Given the description of an element on the screen output the (x, y) to click on. 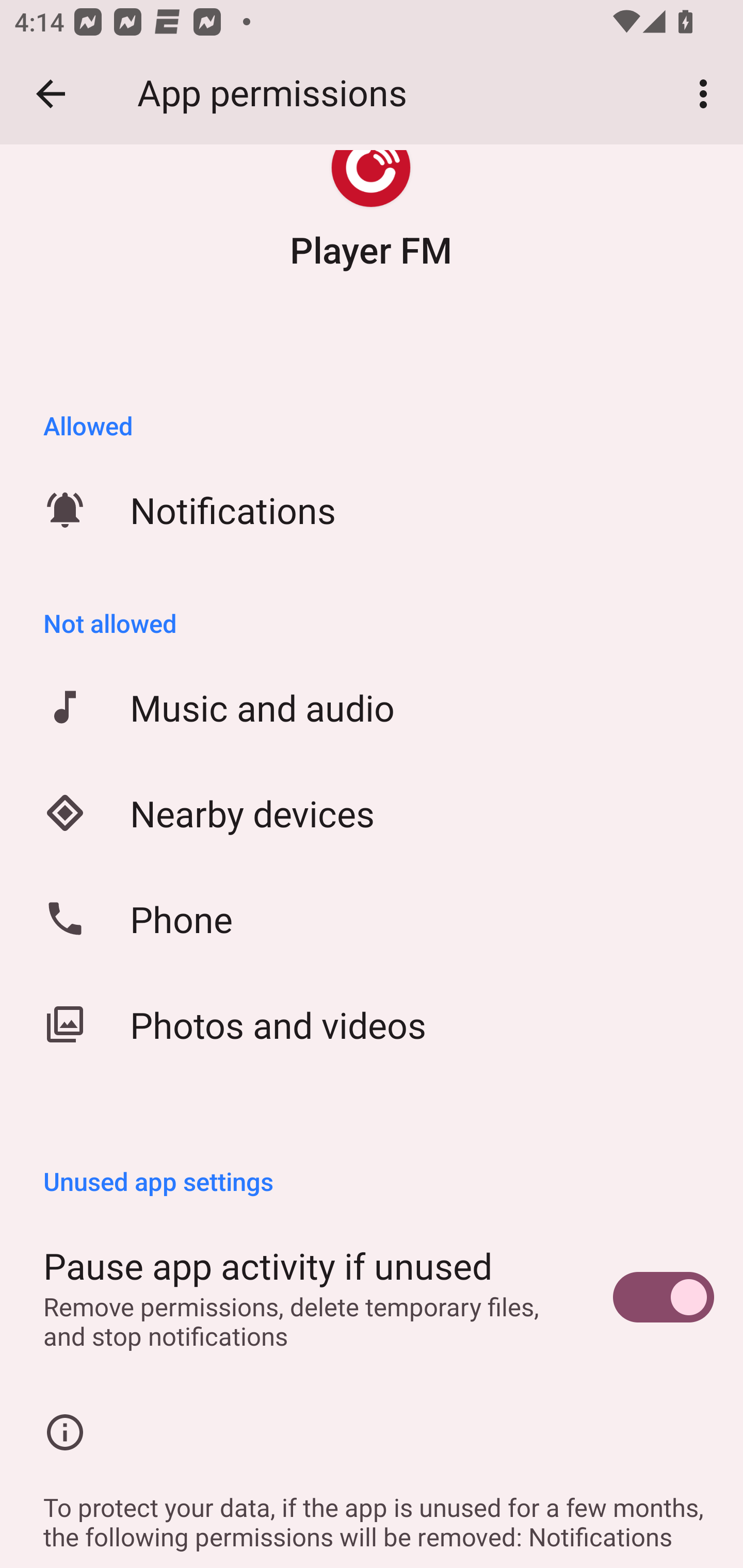
Back (50, 93)
More options (706, 93)
Notifications (371, 509)
Music and audio (371, 706)
Nearby devices (371, 812)
Phone (371, 918)
Photos and videos (371, 1024)
